Given the description of an element on the screen output the (x, y) to click on. 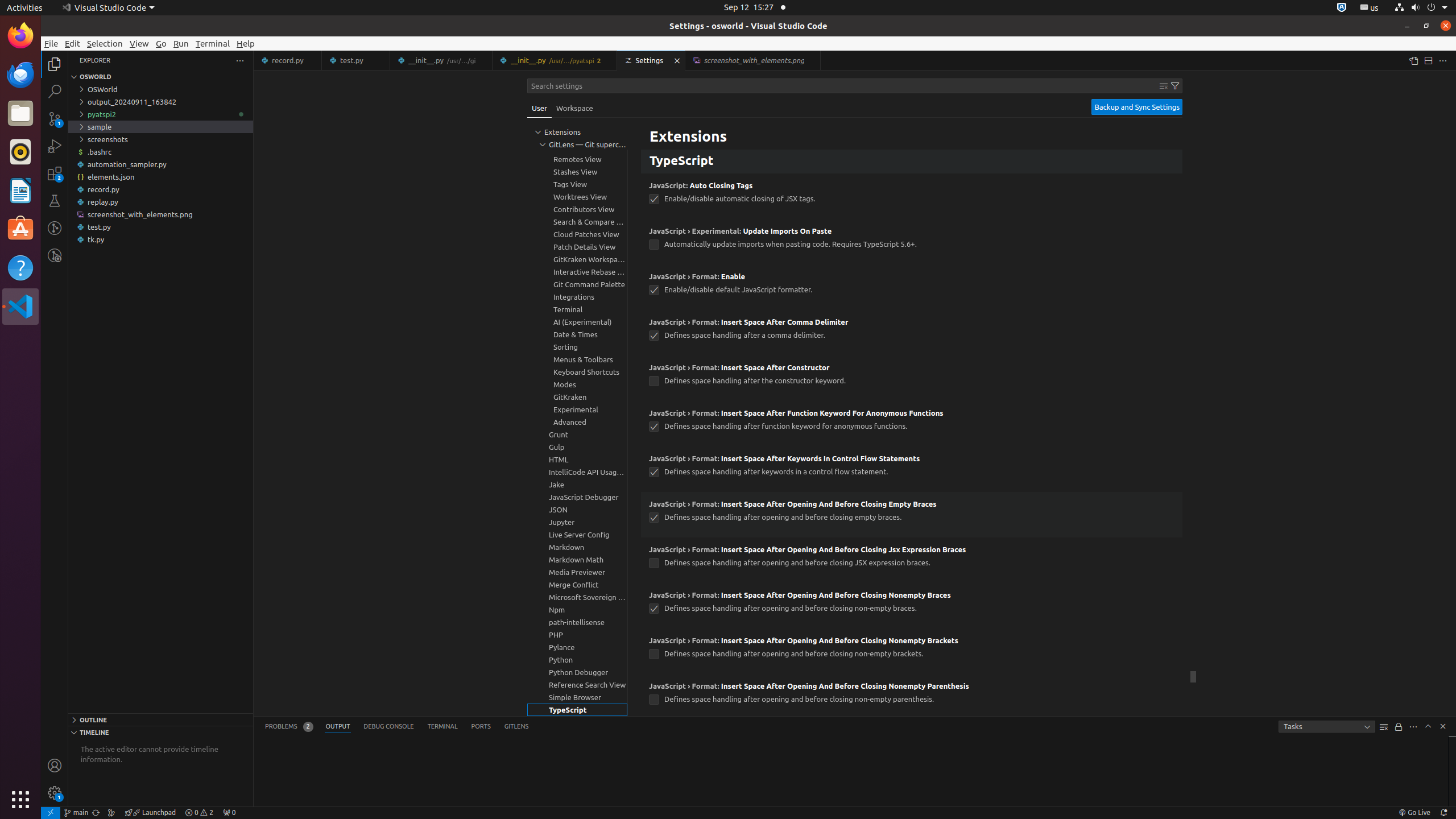
Run and Debug (Ctrl+Shift+D) Element type: page-tab (54, 145)
Merge Conflict, group Element type: tree-item (577, 584)
Accounts Element type: push-button (54, 765)
Simple Browser › Focus Lock Indicator Enabled. Enable/disable the floating indicator that shows when focused in the simple browser.  Element type: tree-item (911, 126)
Python, group Element type: tree-item (577, 659)
